Given the description of an element on the screen output the (x, y) to click on. 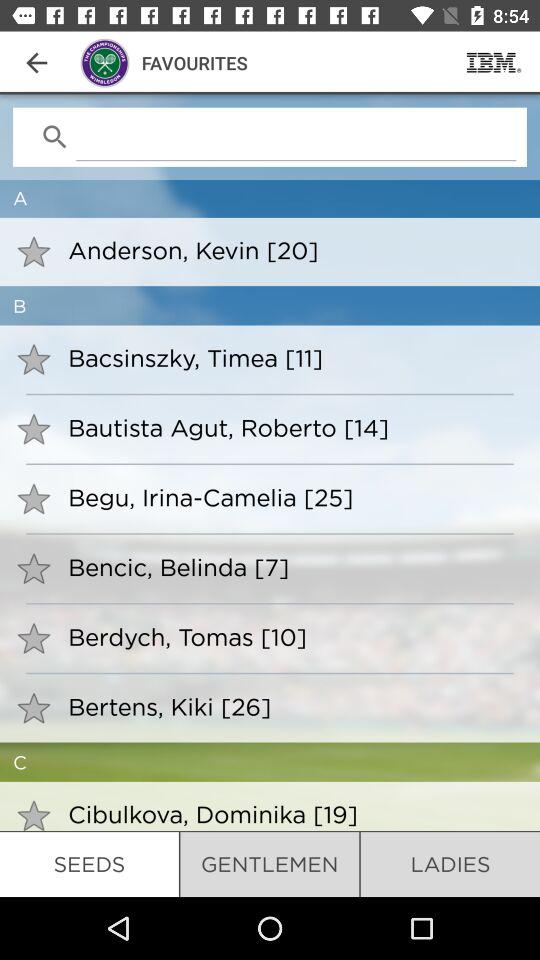
open icon to the right of favourites app (494, 62)
